Given the description of an element on the screen output the (x, y) to click on. 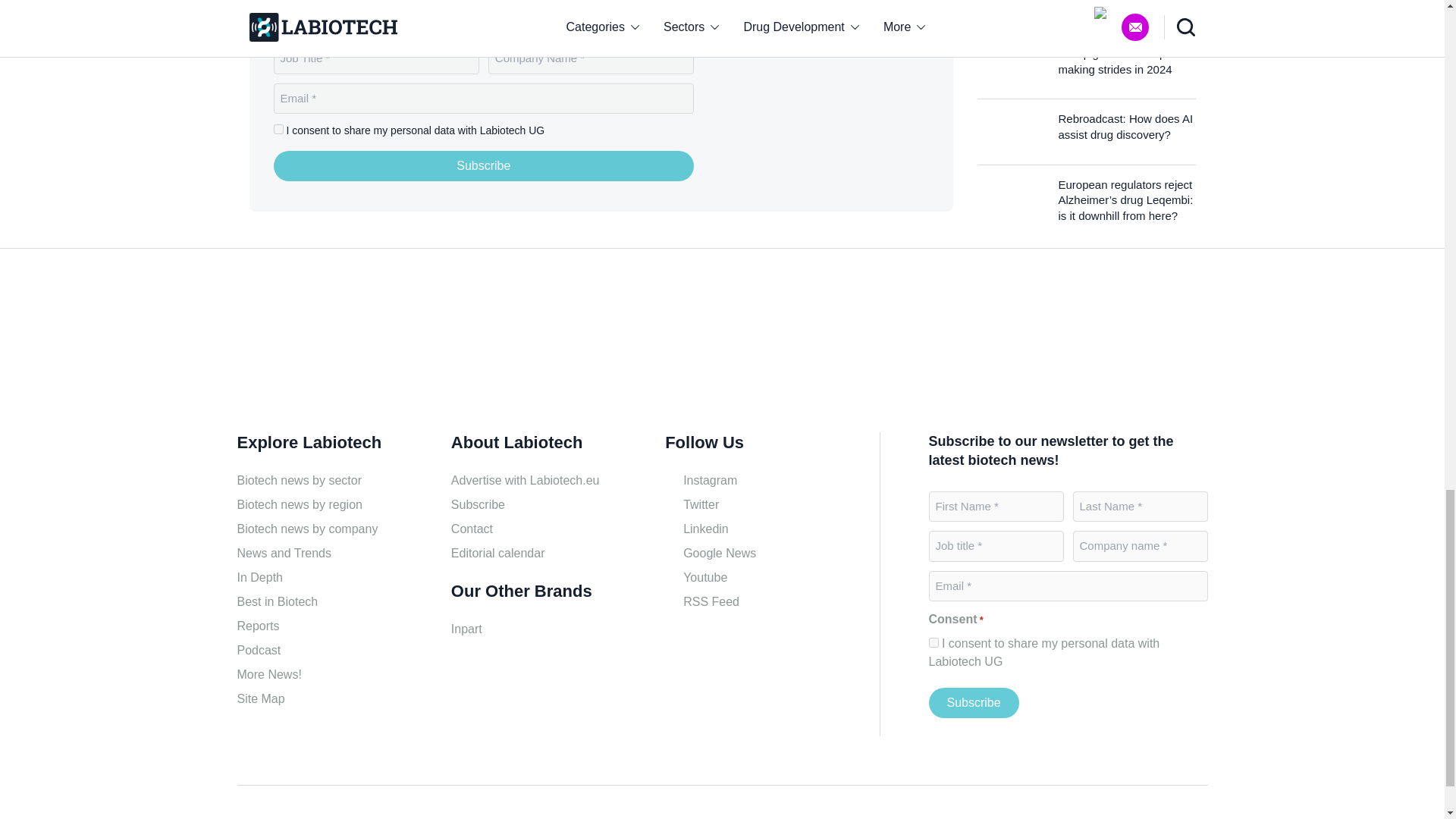
Labiotech.eu (309, 346)
Subscribe (972, 702)
Labiotech.eu (834, 105)
Subscribe (483, 165)
1 (277, 129)
1 (932, 642)
